Given the description of an element on the screen output the (x, y) to click on. 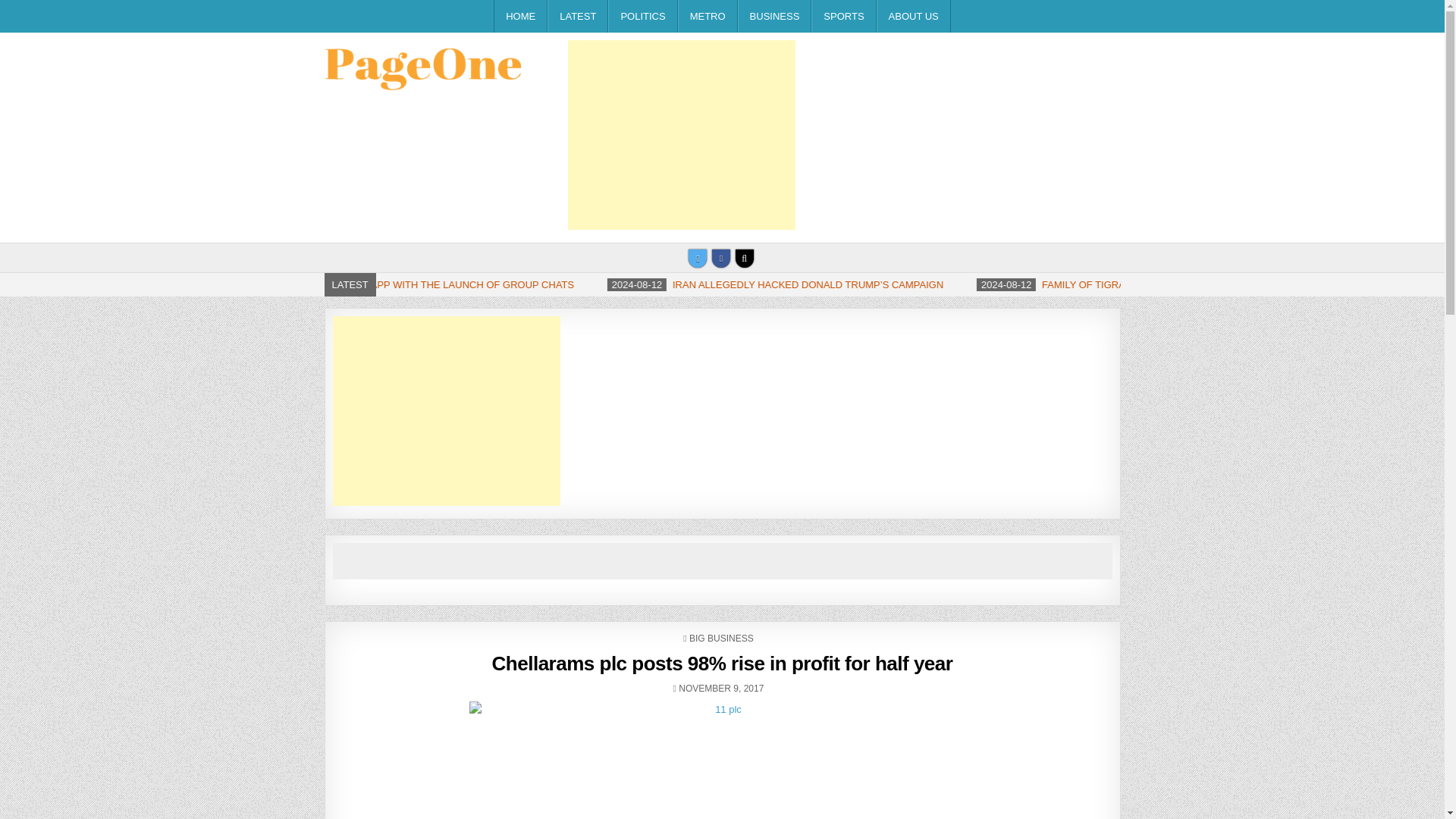
ABOUT US (913, 16)
Search (744, 258)
BIG BUSINESS (721, 638)
METRO (708, 16)
Advertisement (680, 135)
SPORTS (843, 16)
Facebook (720, 258)
HOME (520, 16)
Twitter (697, 258)
